Given the description of an element on the screen output the (x, y) to click on. 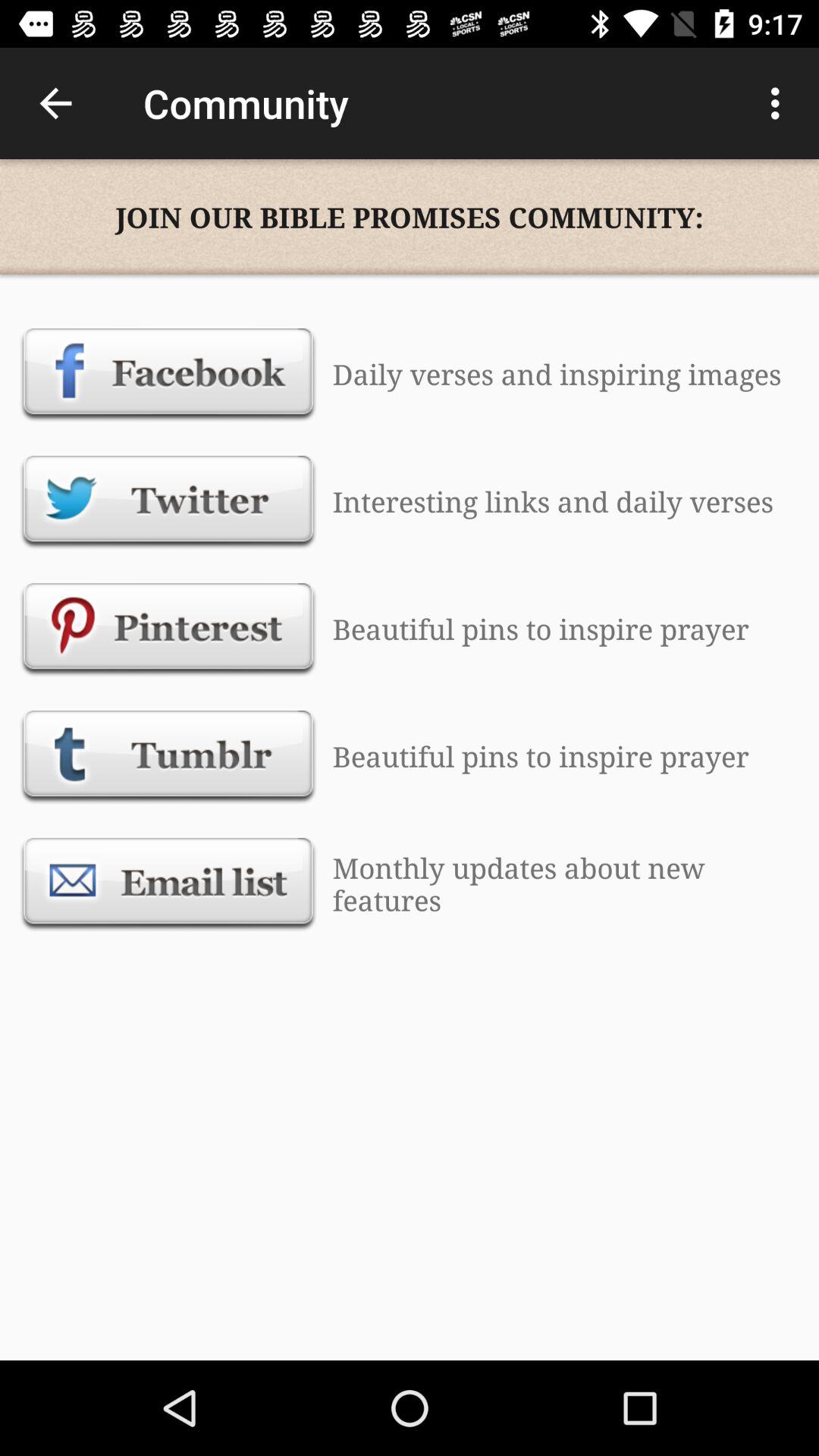
turn off icon next to monthly updates about icon (167, 883)
